Given the description of an element on the screen output the (x, y) to click on. 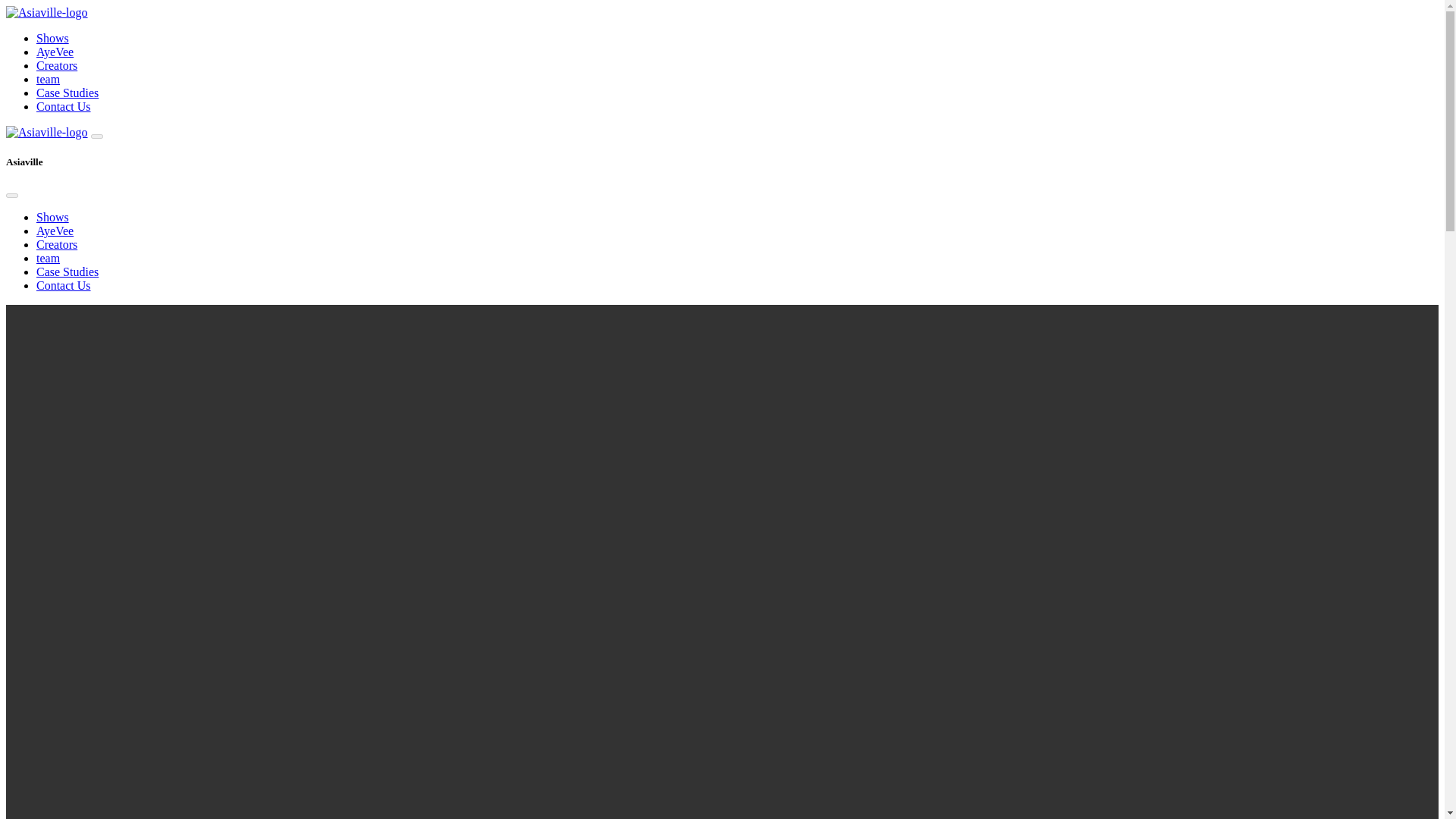
team (47, 78)
Case Studies (67, 92)
Shows (52, 216)
Case Studies (67, 271)
team (47, 257)
AyeVee (55, 51)
Contact Us (63, 106)
Contact Us (63, 285)
Shows (52, 38)
Creators (56, 244)
AyeVee (55, 230)
Creators (56, 65)
